Given the description of an element on the screen output the (x, y) to click on. 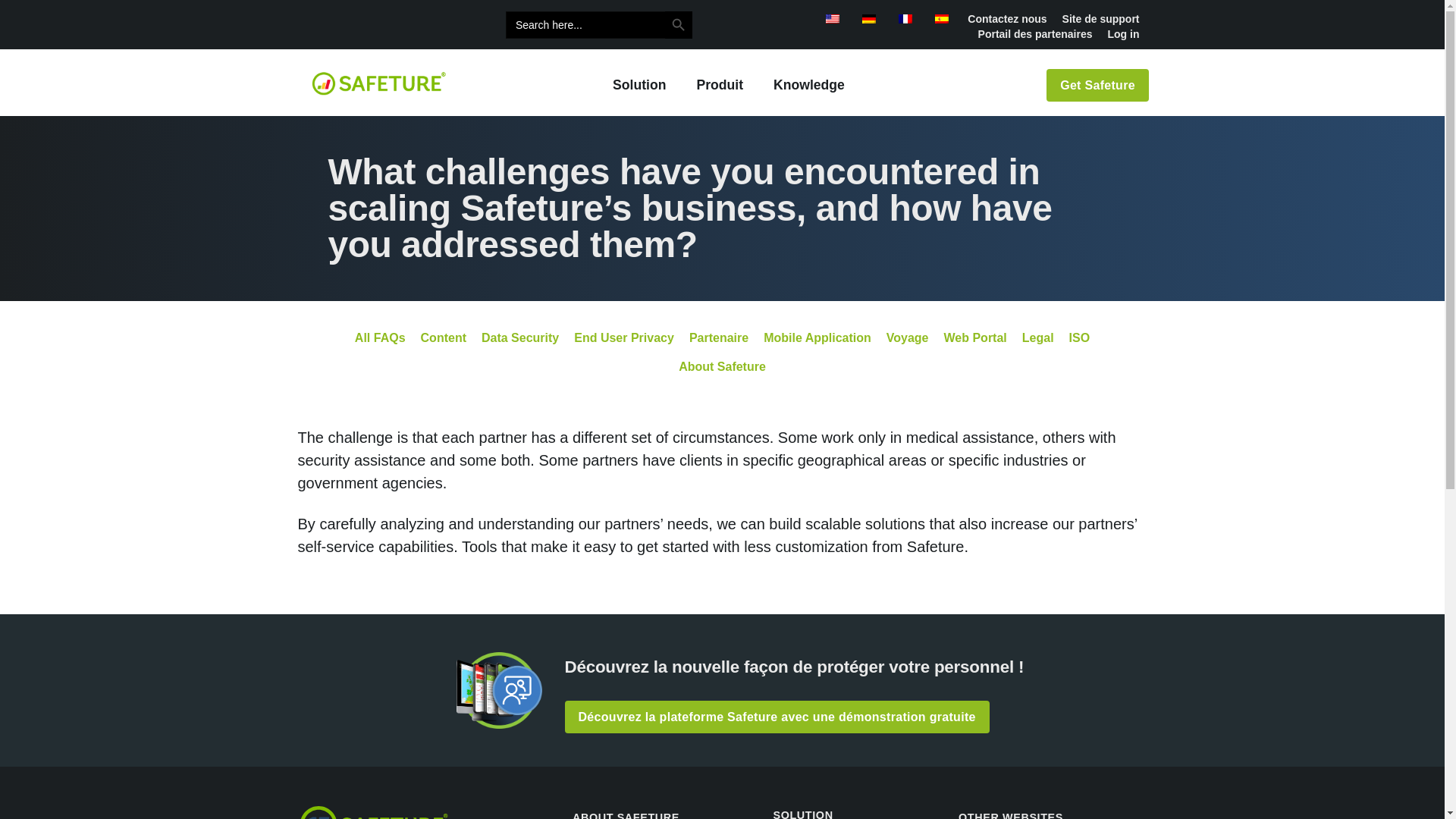
Search Button (679, 23)
Site de support (1100, 18)
Contactez nous (1006, 18)
Produit (719, 84)
German (868, 18)
French (905, 18)
English (832, 18)
Solution (638, 84)
Spanish (941, 18)
Knowledge (809, 84)
Portail des partenaires (1035, 33)
Log in (1123, 33)
